Given the description of an element on the screen output the (x, y) to click on. 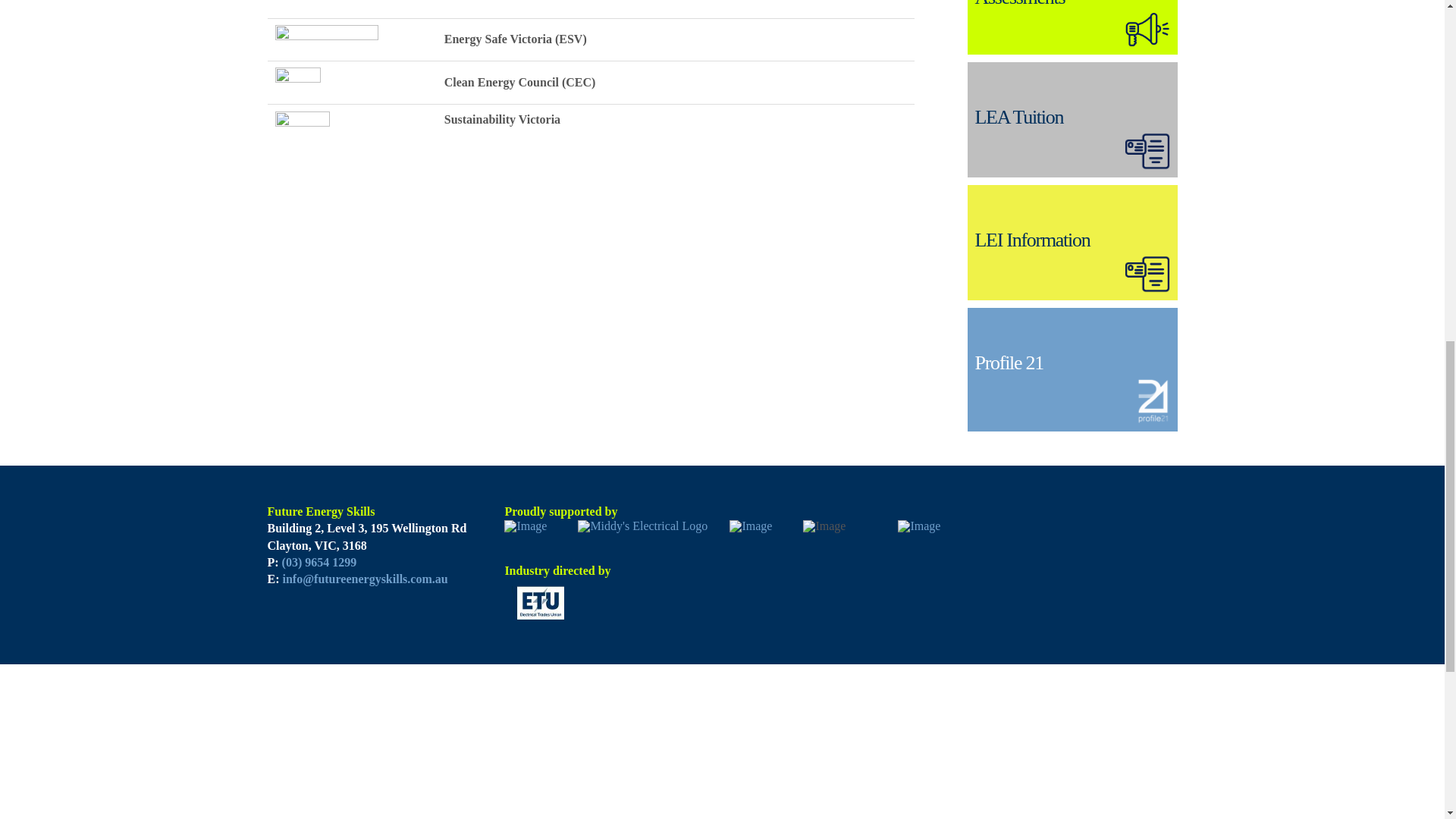
Energy Safe Victoria (326, 38)
Sustainability Victoria (302, 118)
Energy Safe Victoria (326, 39)
Clean Energy Council (297, 82)
Electrical Trades Union (302, 6)
Clean Energy Council (297, 81)
Sustainability Victoria (302, 119)
